Given the description of an element on the screen output the (x, y) to click on. 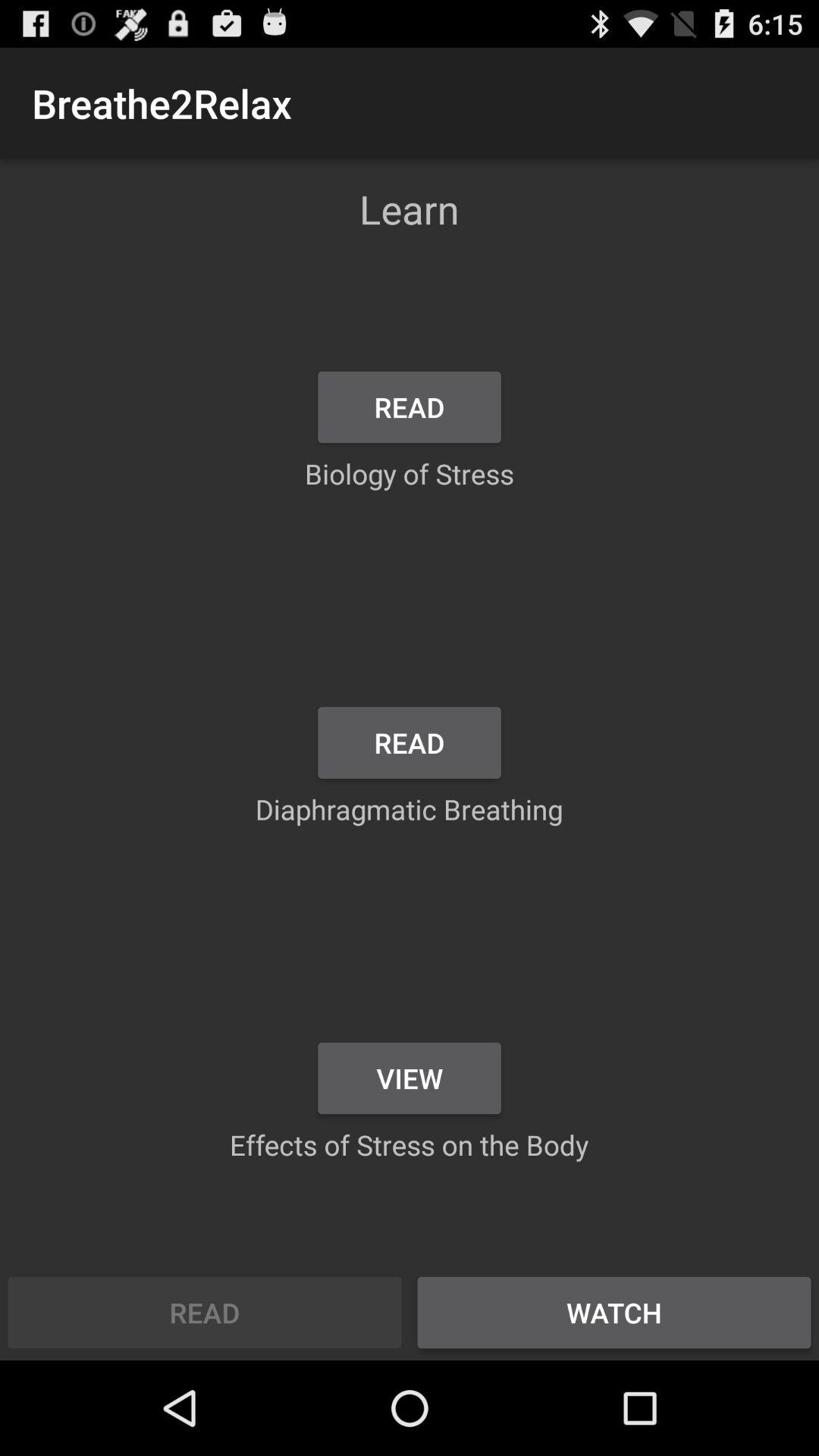
swipe to the watch item (614, 1312)
